Given the description of an element on the screen output the (x, y) to click on. 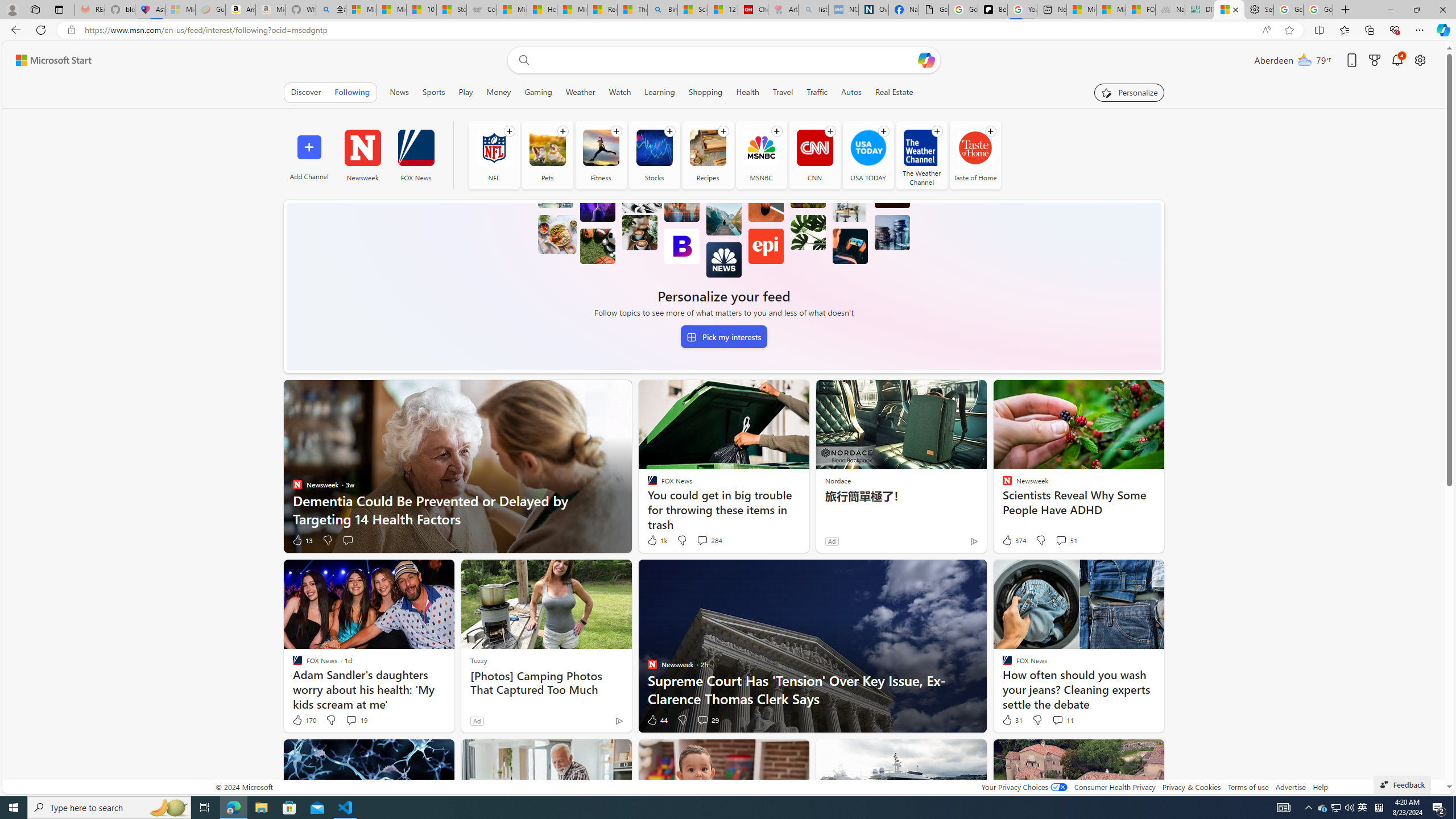
Google Analytics Opt-out Browser Add-on Download Page (933, 9)
31 Like (1010, 719)
Your Privacy Choices (1024, 786)
CNN (814, 155)
Tuzzy (478, 660)
Traffic (817, 92)
374 Like (1012, 539)
